Given the description of an element on the screen output the (x, y) to click on. 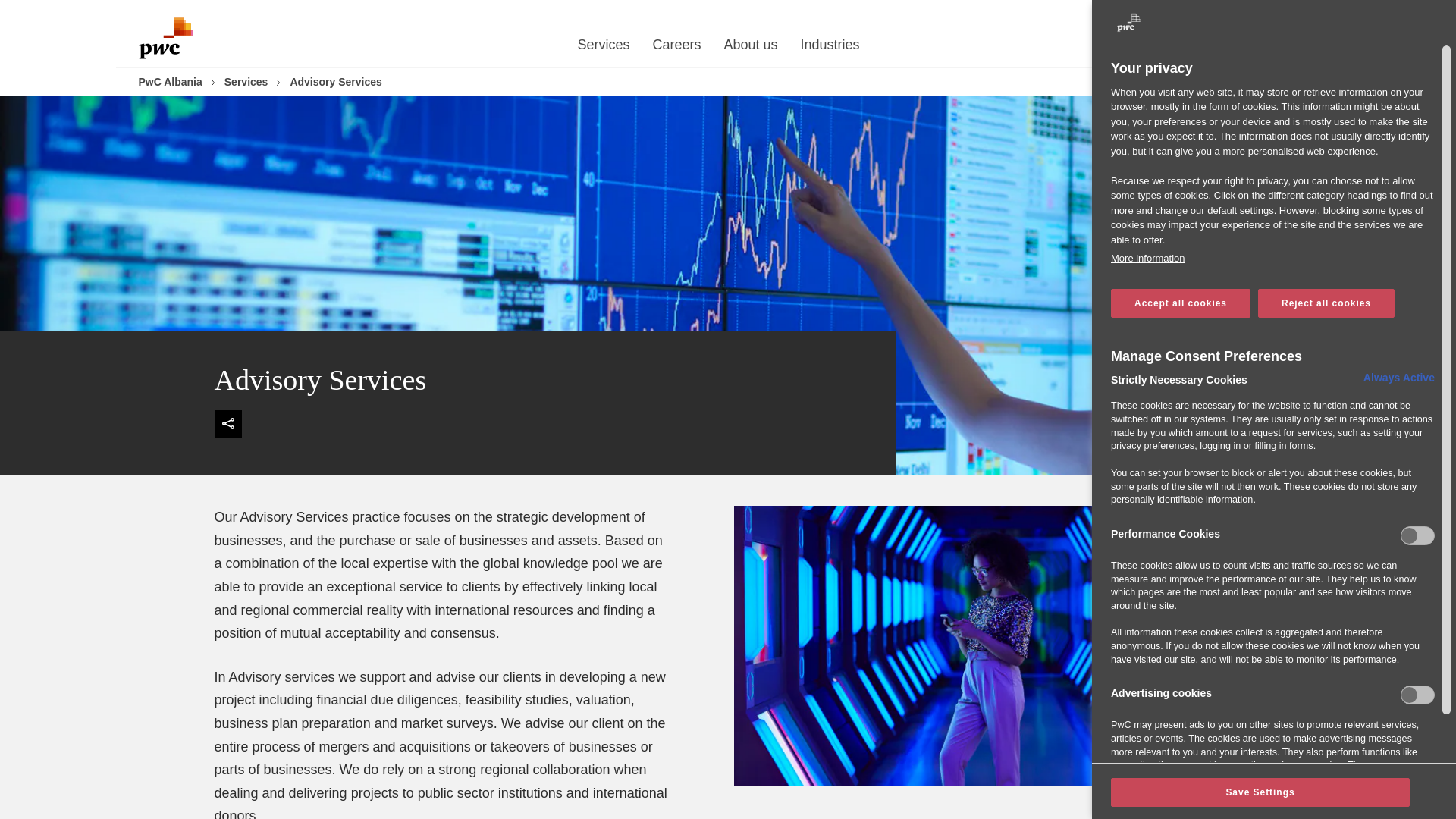
Industries (830, 49)
Careers (676, 49)
Services (602, 49)
Albania (1271, 13)
About us (750, 49)
